Given the description of an element on the screen output the (x, y) to click on. 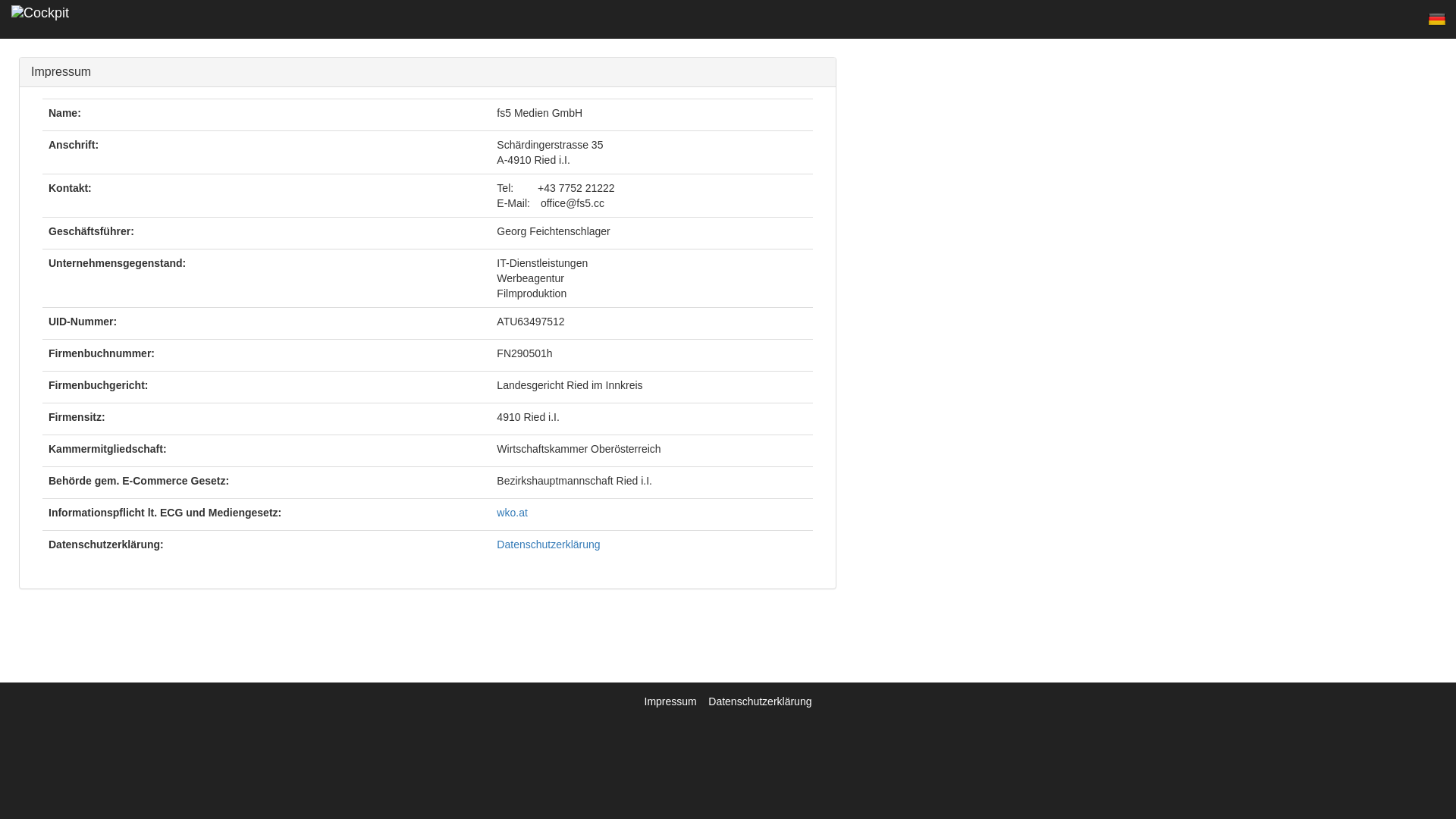
Impressum Element type: text (671, 701)
wko.at Element type: text (511, 512)
